Given the description of an element on the screen output the (x, y) to click on. 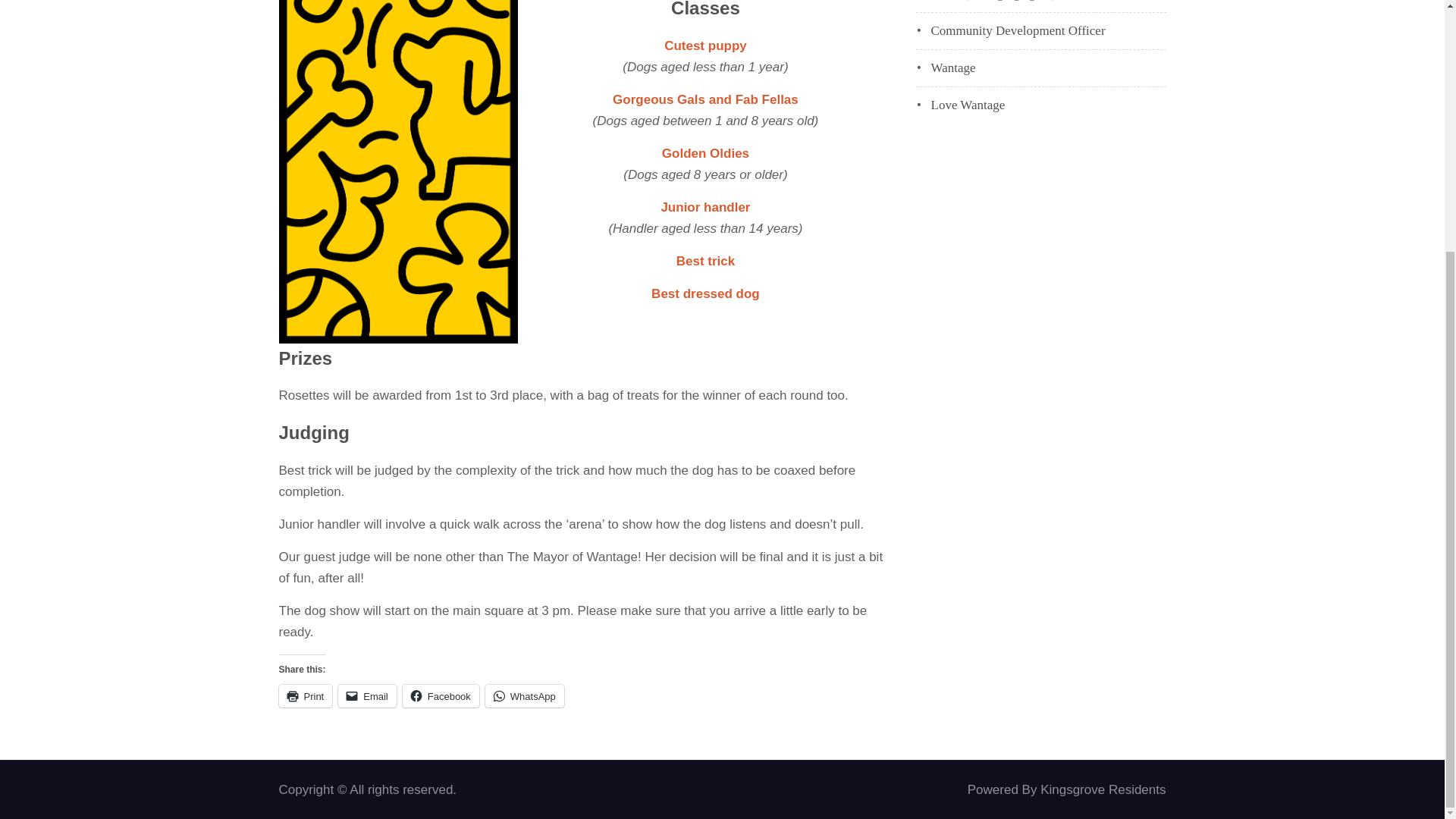
Wantage (953, 67)
Love Wantage (968, 104)
Click to print (306, 694)
Print (306, 694)
Kingsgrove Residents (1103, 789)
Click to share on Facebook (441, 694)
Facebook (441, 694)
Email (366, 694)
WhatsApp (524, 694)
